Given the description of an element on the screen output the (x, y) to click on. 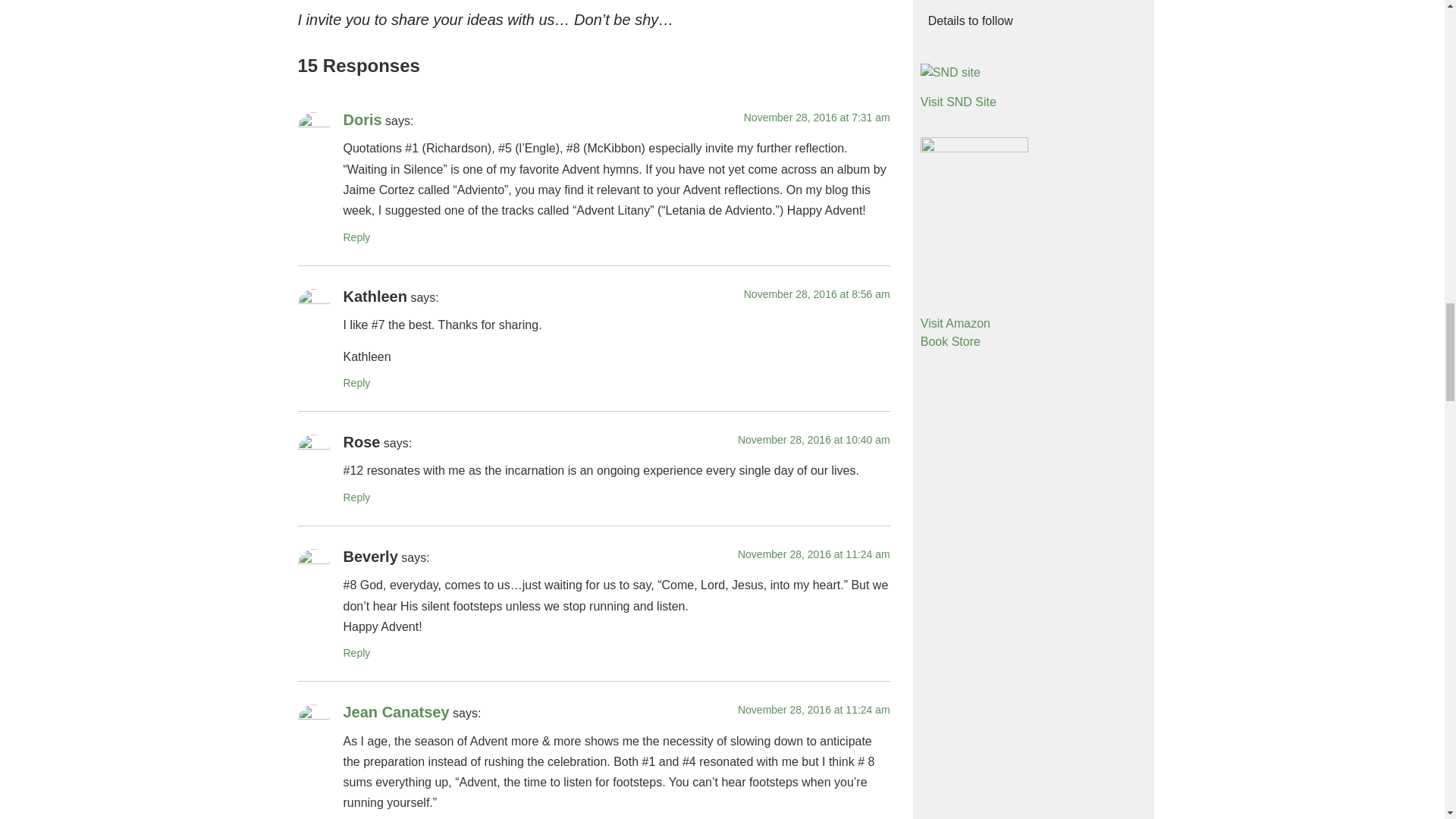
November 28, 2016 at 7:31 am (816, 117)
November 28, 2016 at 11:24 am (813, 553)
November 28, 2016 at 8:56 am (816, 294)
Reply (355, 653)
Doris (361, 119)
Reply (355, 497)
Reply (355, 236)
November 28, 2016 at 11:24 am (813, 709)
Reply (355, 382)
Jean Canatsey (395, 711)
